Given the description of an element on the screen output the (x, y) to click on. 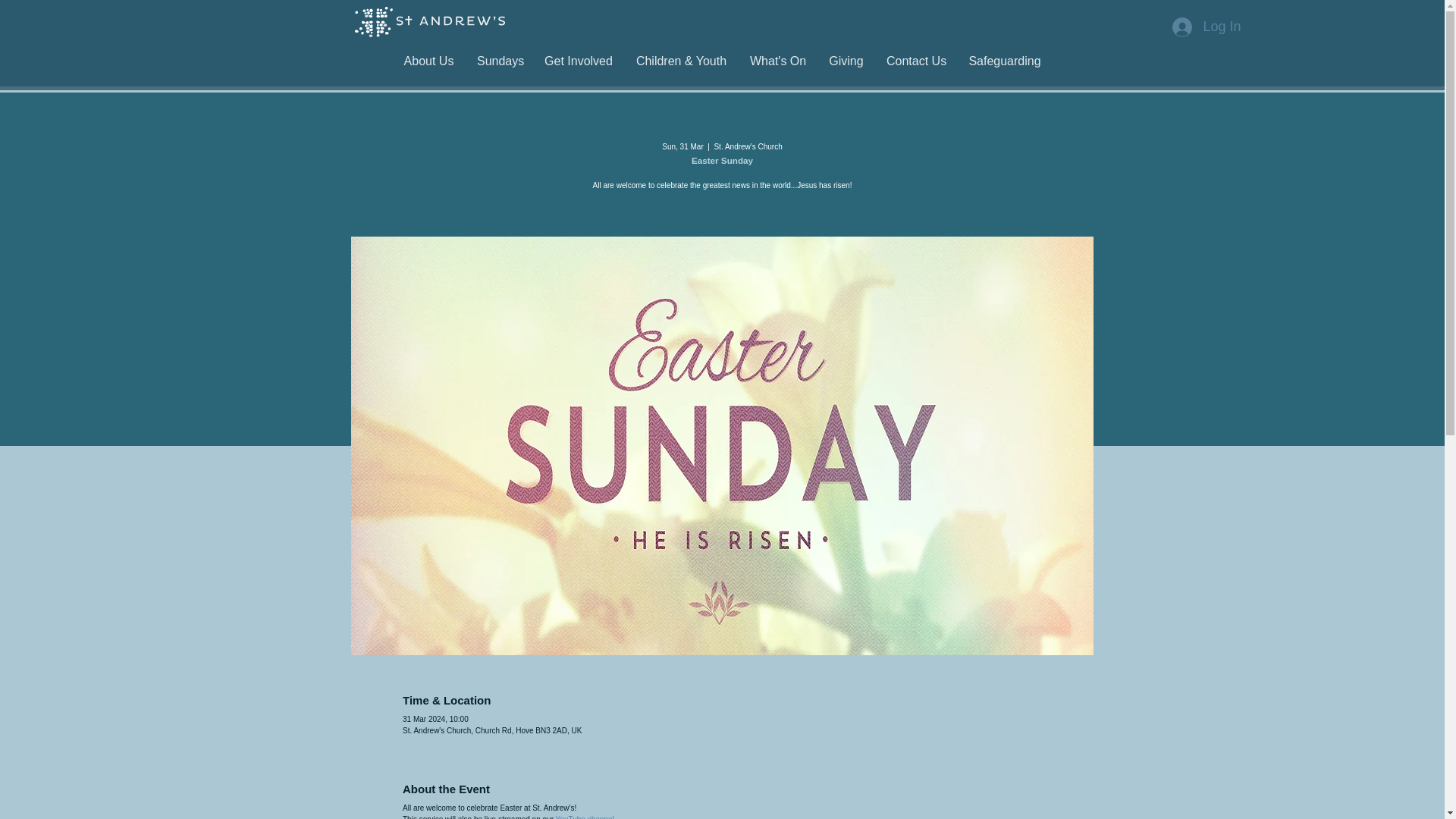
Safeguarding (1004, 60)
Log In (1205, 27)
Get Involved (578, 60)
Giving (845, 60)
Contact Us (915, 60)
What's On (777, 60)
YouTube channel (585, 816)
Sundays (498, 60)
About Us (428, 60)
